Given the description of an element on the screen output the (x, y) to click on. 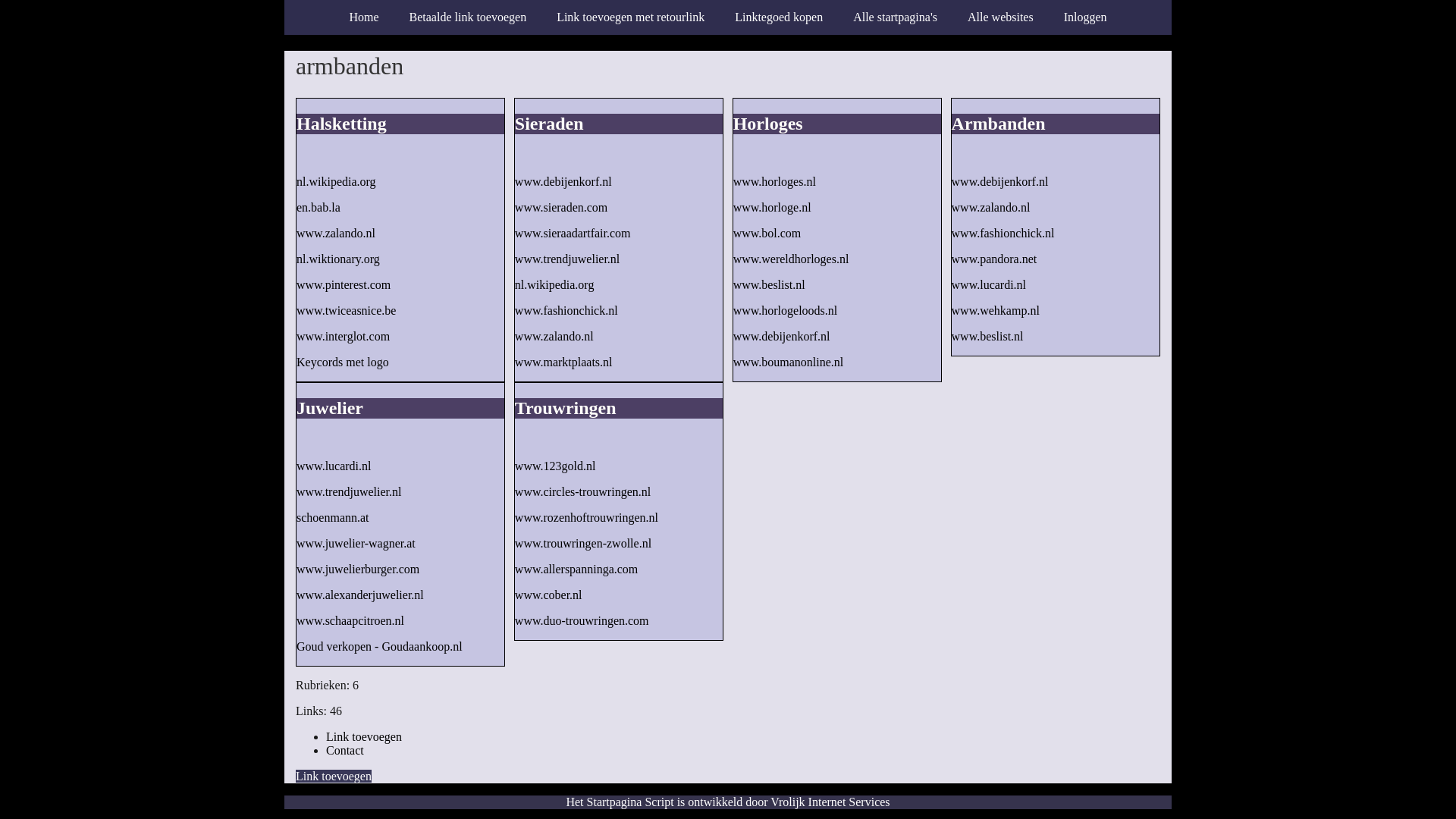
schoenmann.at Element type: text (332, 517)
www.horloge.nl Element type: text (772, 206)
www.horlogeloods.nl Element type: text (785, 310)
Linktegoed kopen Element type: text (778, 17)
www.sieraden.com Element type: text (560, 206)
www.trendjuwelier.nl Element type: text (566, 258)
Inloggen Element type: text (1085, 17)
www.juwelier-wagner.at Element type: text (355, 542)
www.boumanonline.nl Element type: text (788, 361)
armbanden Element type: text (727, 65)
Link toevoegen met retourlink Element type: text (630, 17)
www.alexanderjuwelier.nl Element type: text (359, 594)
en.bab.la Element type: text (318, 206)
www.zalando.nl Element type: text (553, 335)
www.debijenkorf.nl Element type: text (999, 181)
www.lucardi.nl Element type: text (333, 465)
www.sieraadartfair.com Element type: text (572, 232)
www.schaapcitroen.nl Element type: text (350, 620)
www.wehkamp.nl Element type: text (995, 310)
www.interglot.com Element type: text (342, 335)
www.fashionchick.nl Element type: text (566, 310)
nl.wiktionary.org Element type: text (337, 258)
Link toevoegen Element type: text (333, 774)
www.debijenkorf.nl Element type: text (562, 181)
www.duo-trouwringen.com Element type: text (581, 620)
www.rozenhoftrouwringen.nl Element type: text (586, 517)
www.zalando.nl Element type: text (990, 206)
Betaalde link toevoegen Element type: text (468, 17)
Alle startpagina's Element type: text (894, 17)
www.beslist.nl Element type: text (769, 284)
Alle websites Element type: text (1000, 17)
www.zalando.nl Element type: text (335, 232)
www.pinterest.com Element type: text (343, 284)
Link toevoegen Element type: text (363, 735)
www.cober.nl Element type: text (548, 594)
www.trendjuwelier.nl Element type: text (348, 491)
www.marktplaats.nl Element type: text (563, 361)
www.allerspanninga.com Element type: text (575, 568)
www.pandora.net Element type: text (994, 258)
www.beslist.nl Element type: text (987, 335)
www.123gold.nl Element type: text (555, 465)
www.juwelierburger.com Element type: text (357, 568)
nl.wikipedia.org Element type: text (336, 181)
Keycords met logo Element type: text (342, 361)
www.wereldhorloges.nl Element type: text (791, 258)
Startpagina Script Element type: text (630, 800)
www.lucardi.nl Element type: text (988, 284)
Contact Element type: text (345, 749)
www.circles-trouwringen.nl Element type: text (582, 491)
www.bol.com Element type: text (767, 232)
Goud verkopen - Goudaankoop.nl Element type: text (379, 646)
nl.wikipedia.org Element type: text (554, 284)
www.trouwringen-zwolle.nl Element type: text (582, 542)
Home Element type: text (363, 17)
www.twiceasnice.be Element type: text (345, 310)
www.fashionchick.nl Element type: text (1002, 232)
www.debijenkorf.nl Element type: text (781, 335)
Vrolijk Internet Services Element type: text (829, 800)
www.horloges.nl Element type: text (774, 181)
